Given the description of an element on the screen output the (x, y) to click on. 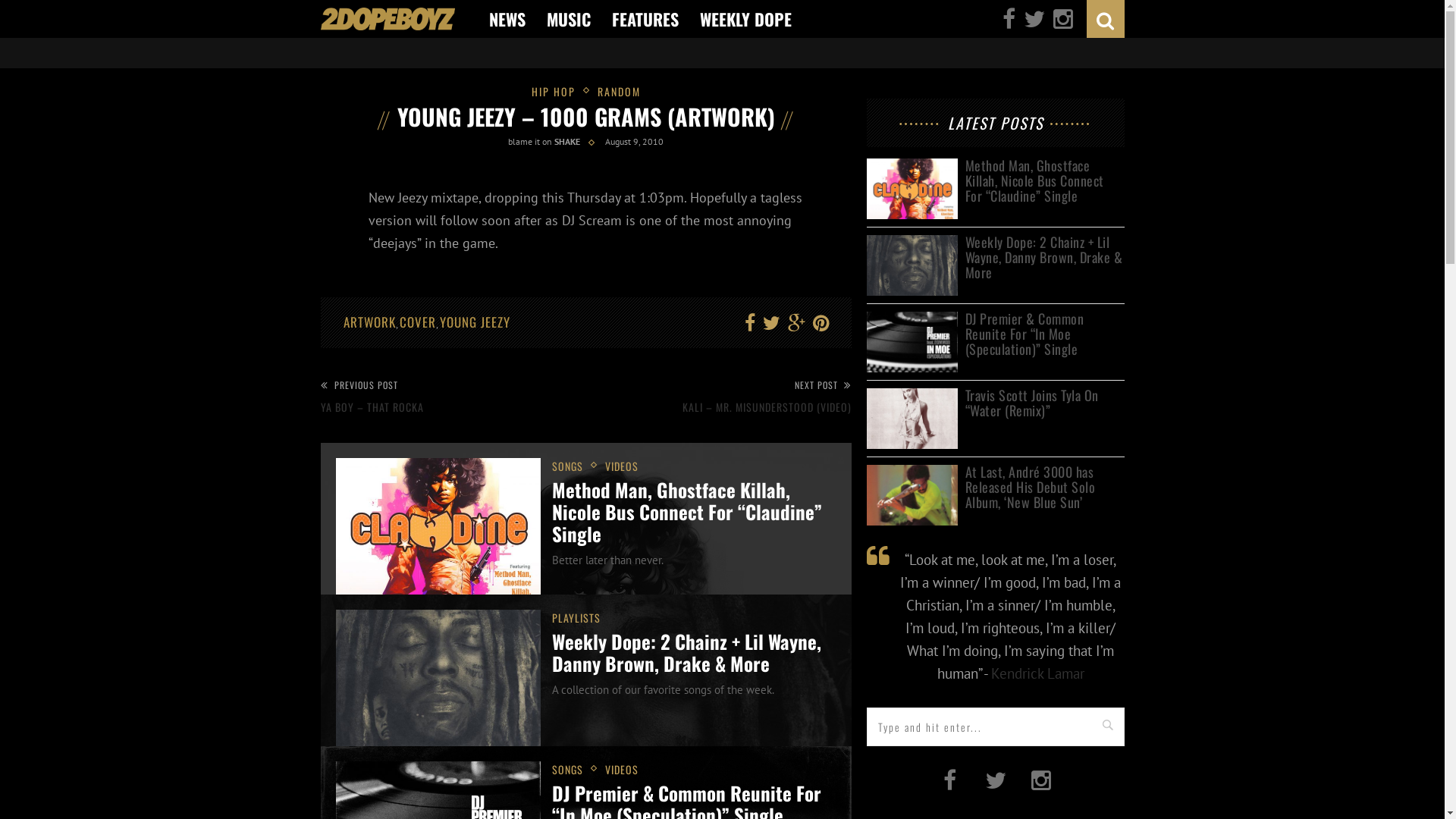
COVER Element type: text (416, 321)
VIDEOS Element type: text (621, 769)
VIDEOS Element type: text (621, 465)
Kendrick Lamar Element type: text (1036, 673)
Weekly Dope: 2 Chainz + Lil Wayne, Danny Brown, Drake & More Element type: text (686, 652)
SONGS Element type: text (574, 465)
PLAYLISTS Element type: text (576, 617)
Weekly Dope: 2 Chainz + Lil Wayne, Danny Brown, Drake & More Element type: text (1043, 257)
HIP HOP Element type: text (558, 91)
Weekly Dope: 2 Chainz + Lil Wayne, Danny Brown, Drake & More Element type: hover (911, 243)
SONGS Element type: text (574, 769)
YOUNG JEEZY Element type: text (474, 321)
RANDOM Element type: text (618, 91)
ARTWORK Element type: text (368, 321)
